Given the description of an element on the screen output the (x, y) to click on. 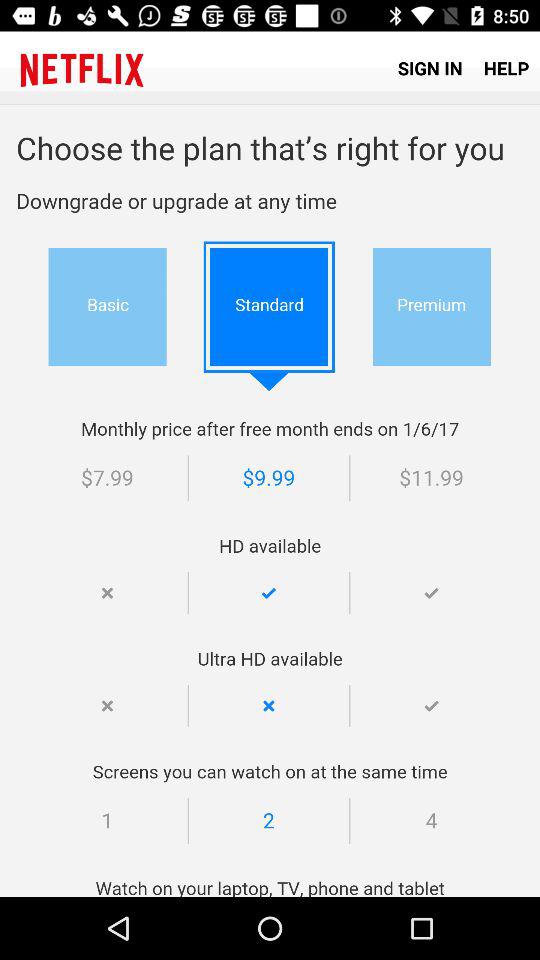
select plan (270, 501)
